Given the description of an element on the screen output the (x, y) to click on. 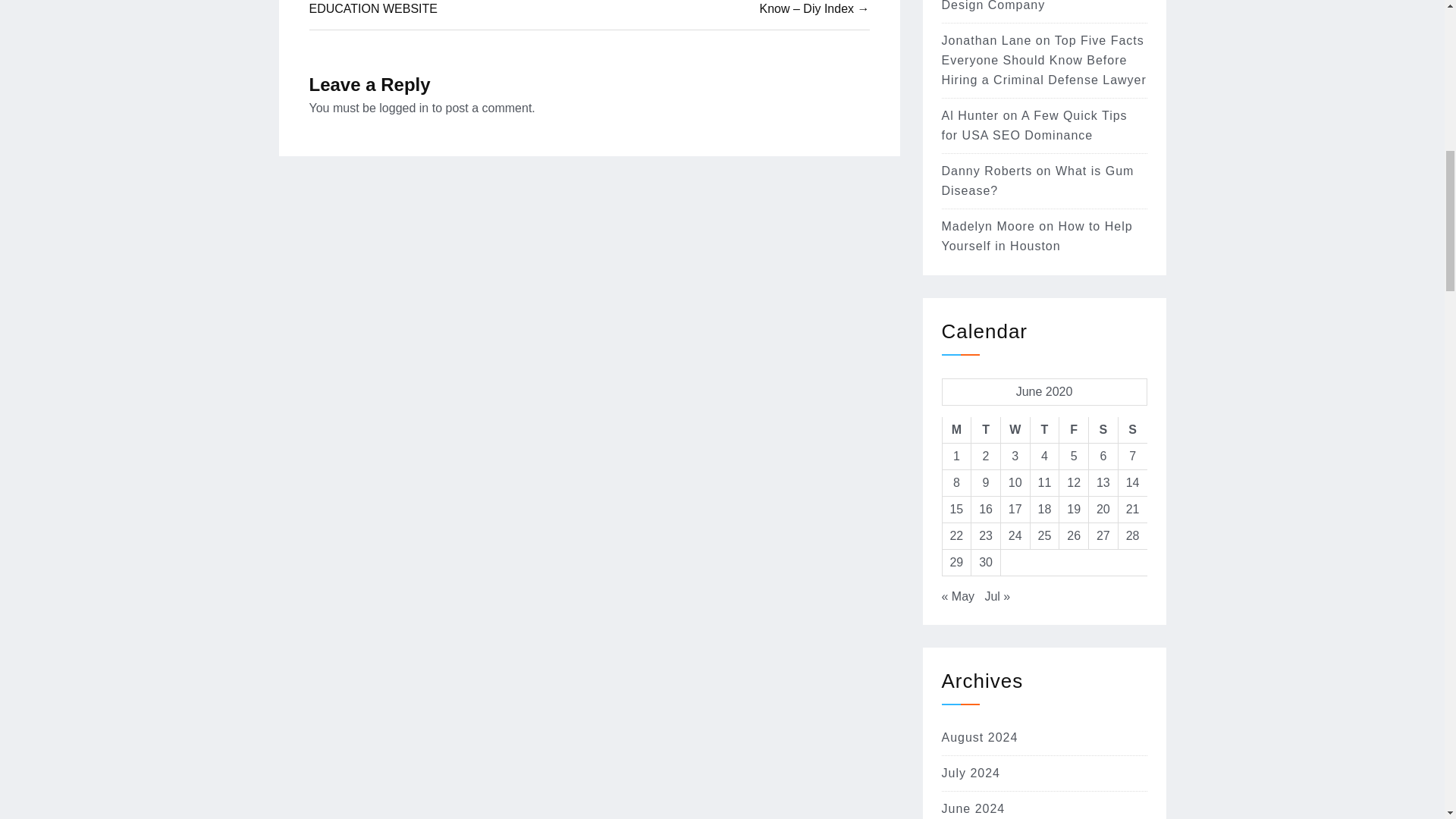
logged in (403, 107)
Five Tips for Finding the Best SEO Web Design Company (1025, 5)
12 (1073, 481)
How to Help Yourself in Houston (1037, 236)
22 (955, 535)
Sunday (1132, 429)
18 (1044, 508)
Saturday (1102, 429)
Al Hunter (970, 115)
Thursday (1044, 429)
